Given the description of an element on the screen output the (x, y) to click on. 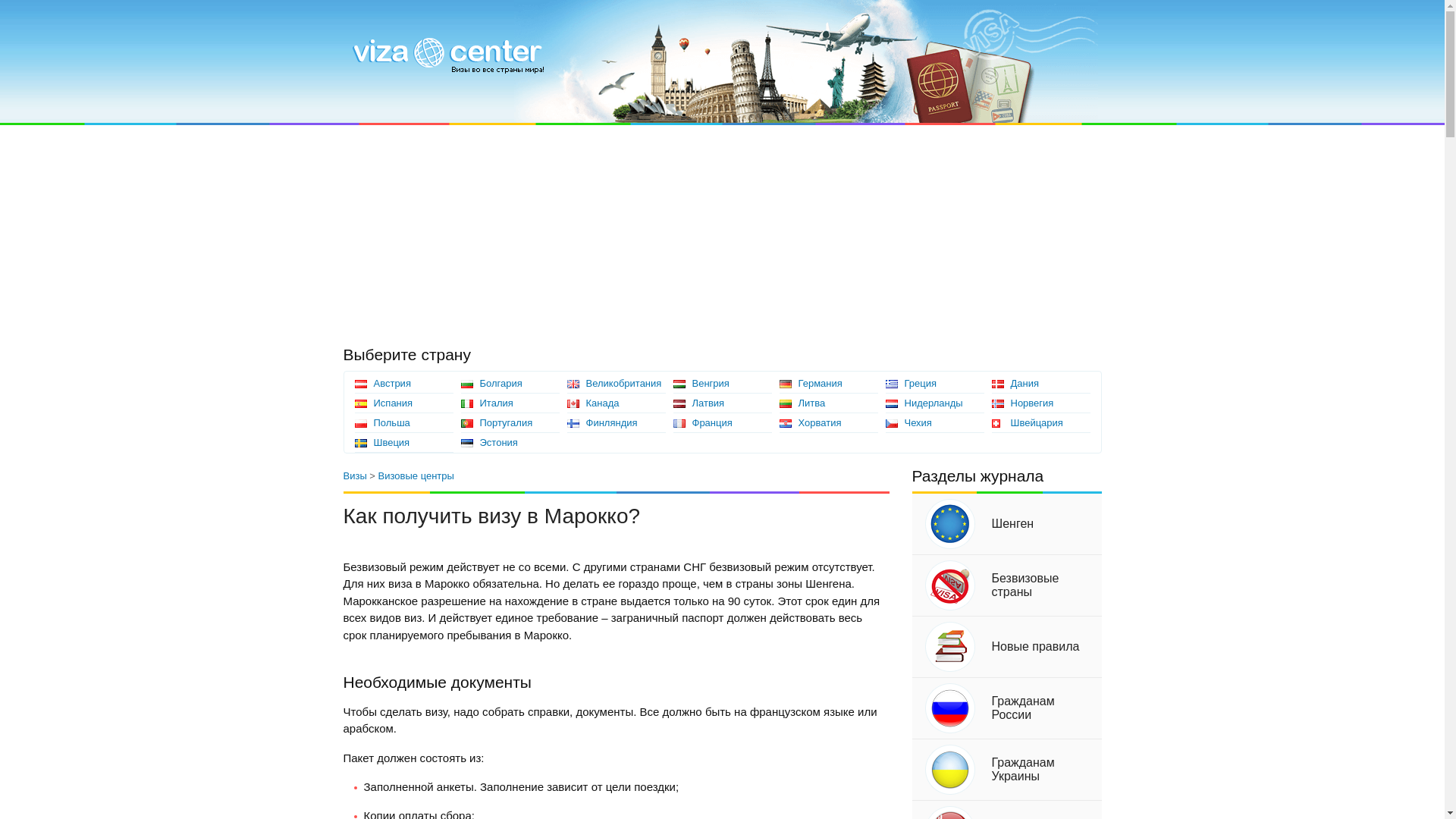
Advertisement Element type: hover (455, 228)
